Given the description of an element on the screen output the (x, y) to click on. 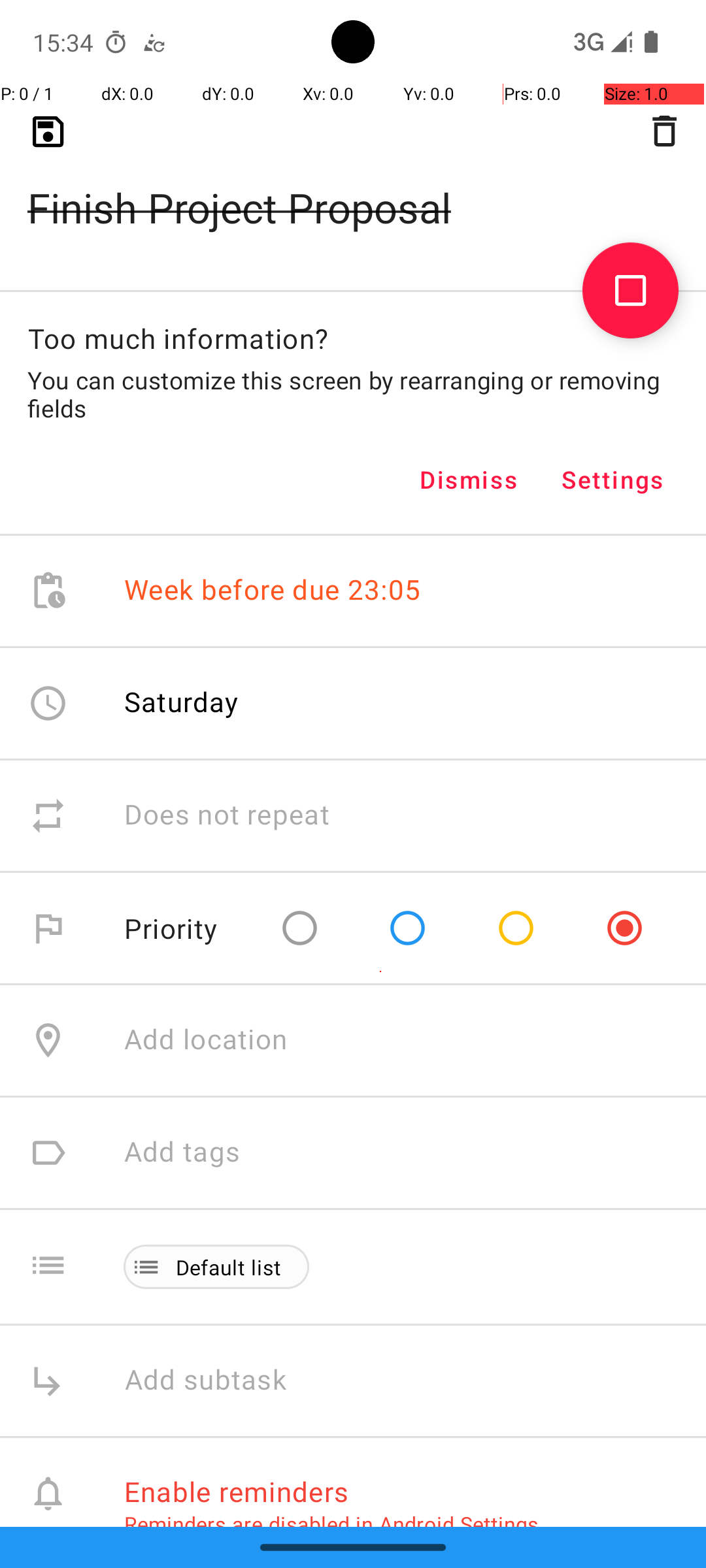
Saturday Element type: android.widget.TextView (181, 700)
Week before due 23:05 Element type: android.widget.TextView (272, 590)
